Given the description of an element on the screen output the (x, y) to click on. 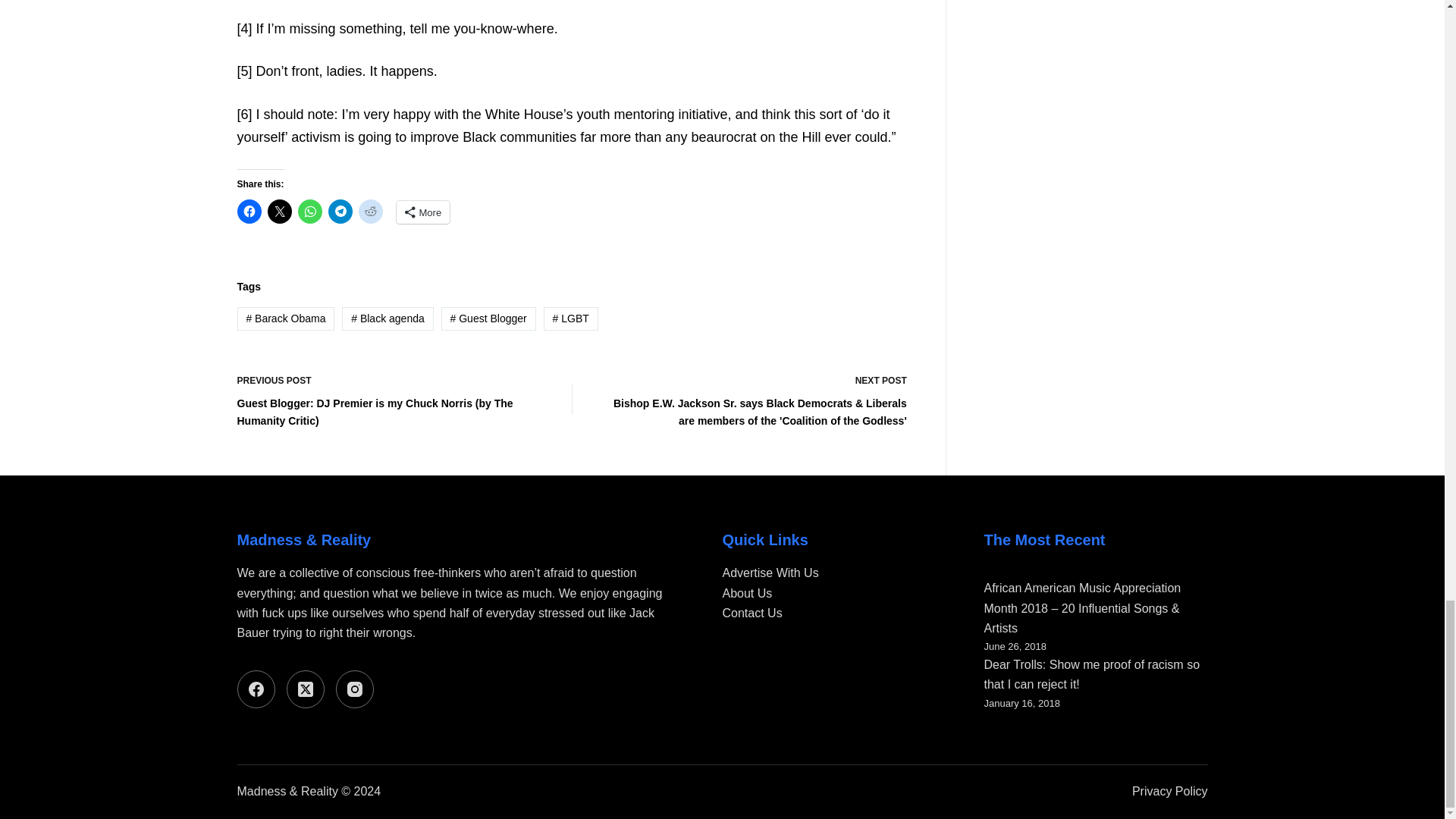
Click to share on Reddit (369, 211)
More (422, 211)
Click to share on WhatsApp (309, 211)
Click to share on Facebook (247, 211)
Click to share on X (278, 211)
Click to share on Telegram (339, 211)
